Given the description of an element on the screen output the (x, y) to click on. 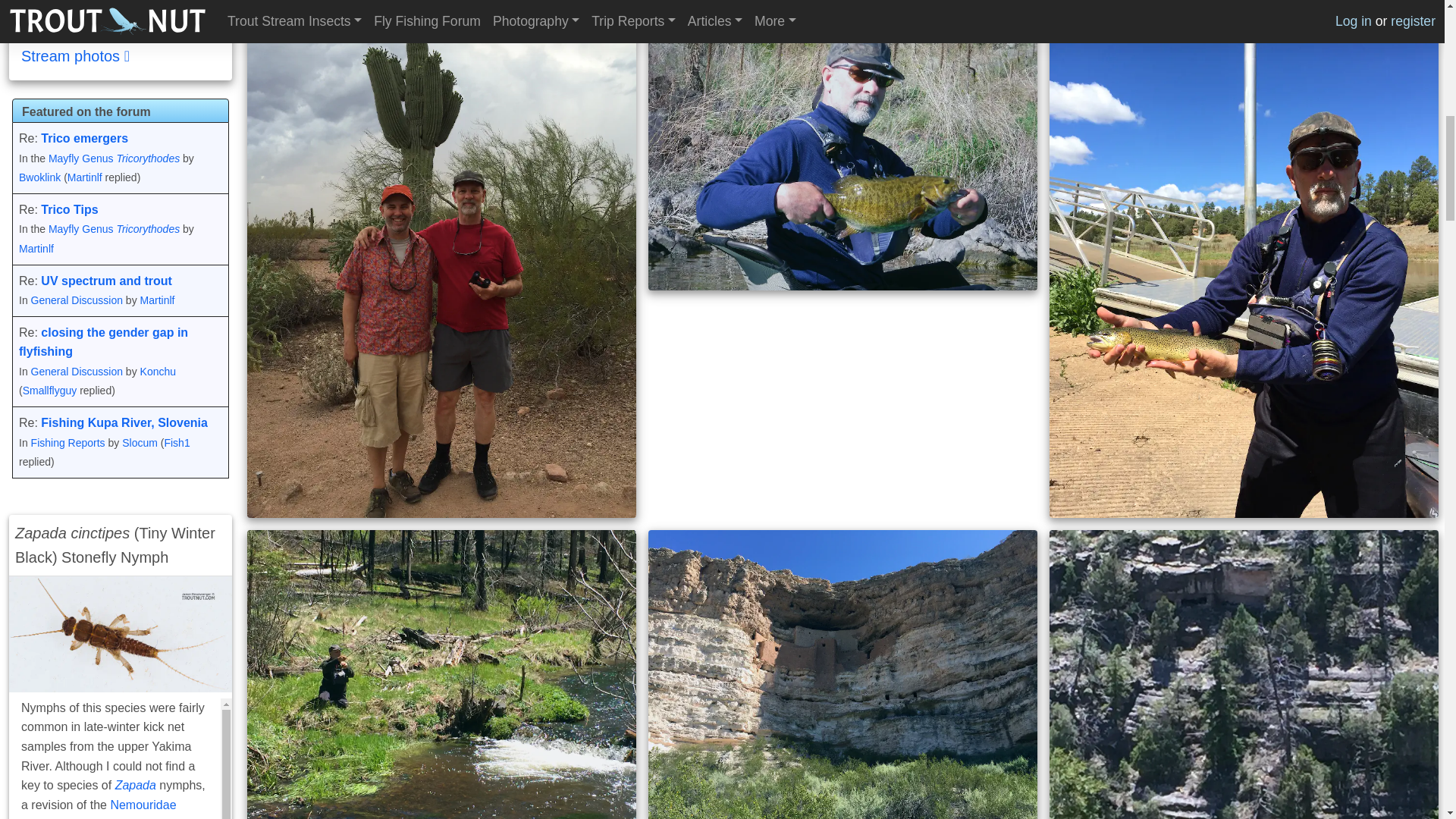
Montazuma Castle. (841, 674)
Fishing the upper reaches of the Little Colorado (441, 674)
